Given the description of an element on the screen output the (x, y) to click on. 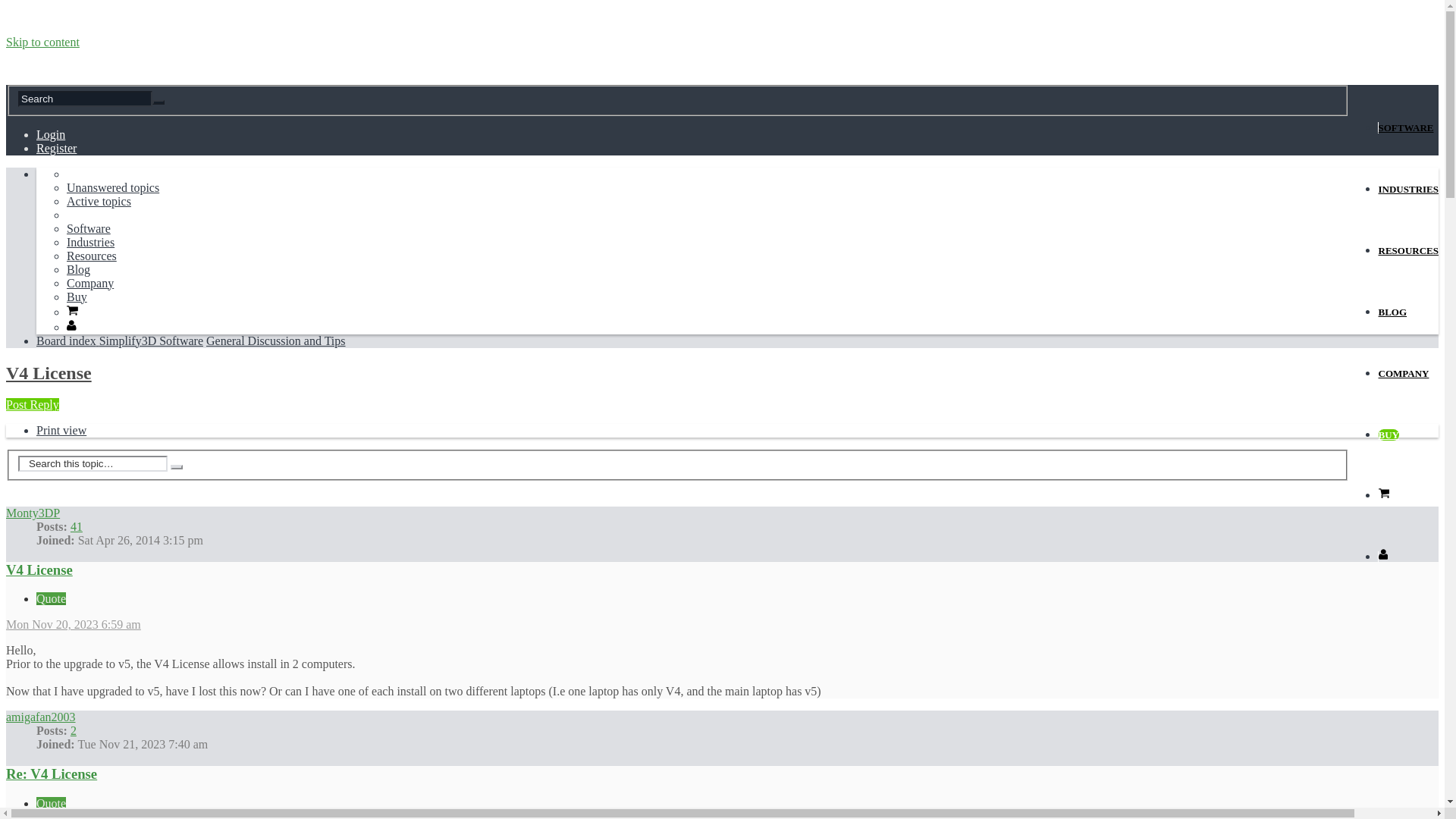
INDUSTRIES (1407, 188)
41 (75, 526)
SOFTWARE (1405, 127)
Monty3DP (32, 512)
Blog (78, 269)
Board index (67, 340)
General Discussion and Tips (276, 340)
Search (158, 101)
Active topics (98, 201)
Quote (50, 598)
